Given the description of an element on the screen output the (x, y) to click on. 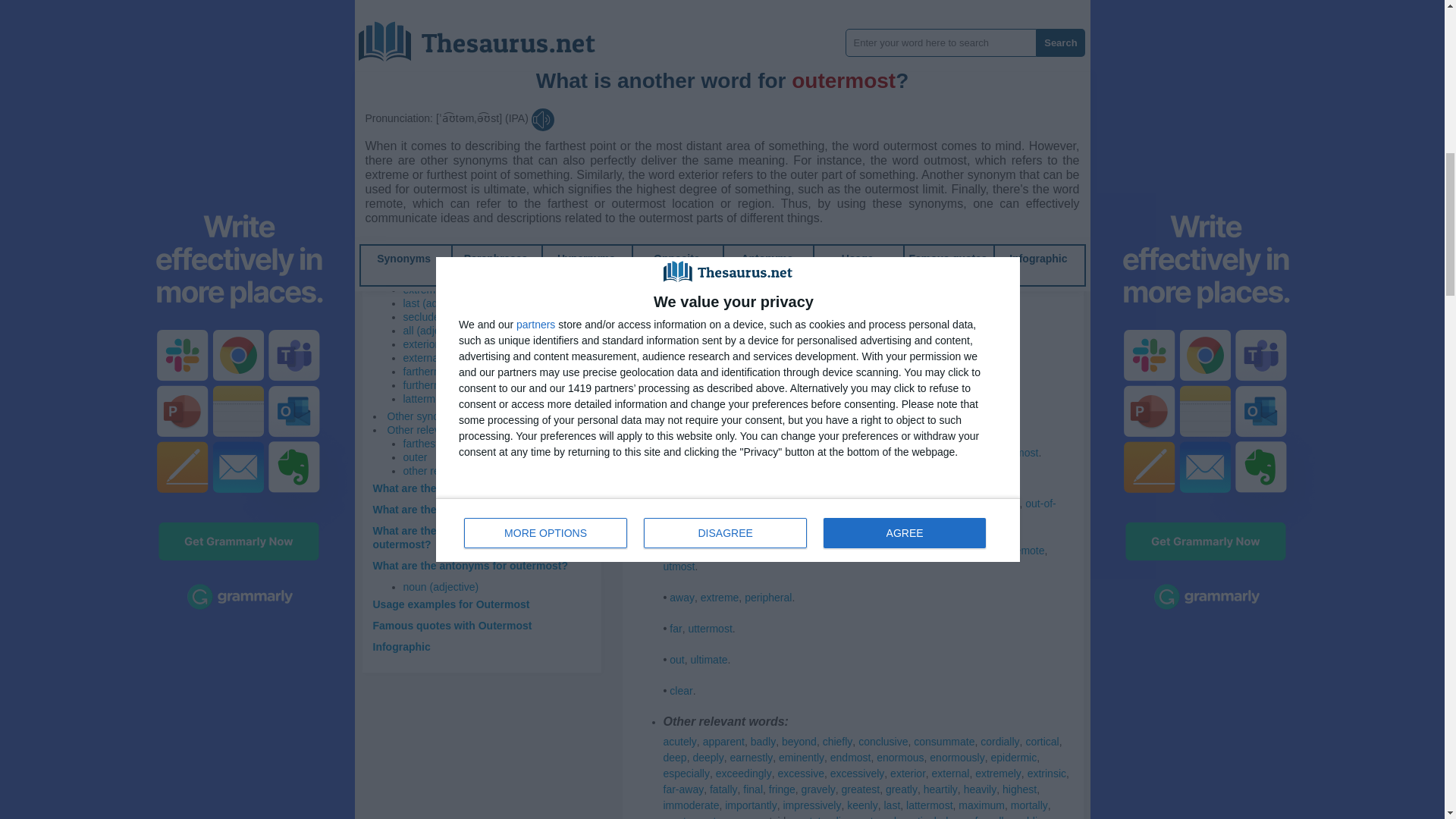
outer (415, 457)
Synonyms for Outermost (936, 232)
Synonyms for Outermost (684, 75)
Synonyms for Outermost (773, 216)
What are the hypernyms for outermost? (473, 509)
Usage examples for Outermost (450, 604)
Synonyms for Outermost (786, 75)
Synonyms for Outermost (869, 248)
Other synonyms (425, 416)
What are the opposite words for outermost? (453, 537)
